Given the description of an element on the screen output the (x, y) to click on. 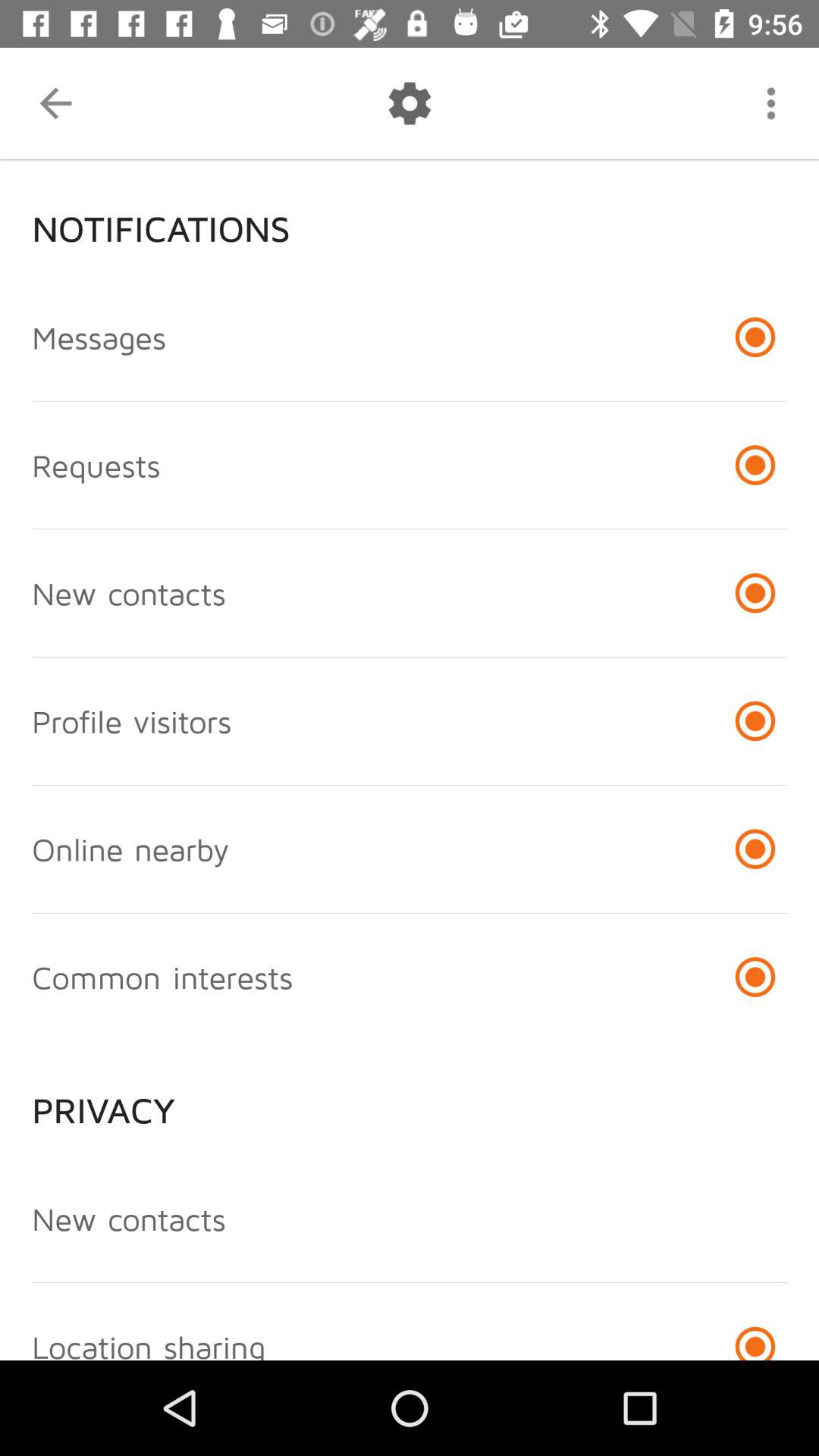
choose the online nearby icon (130, 848)
